Given the description of an element on the screen output the (x, y) to click on. 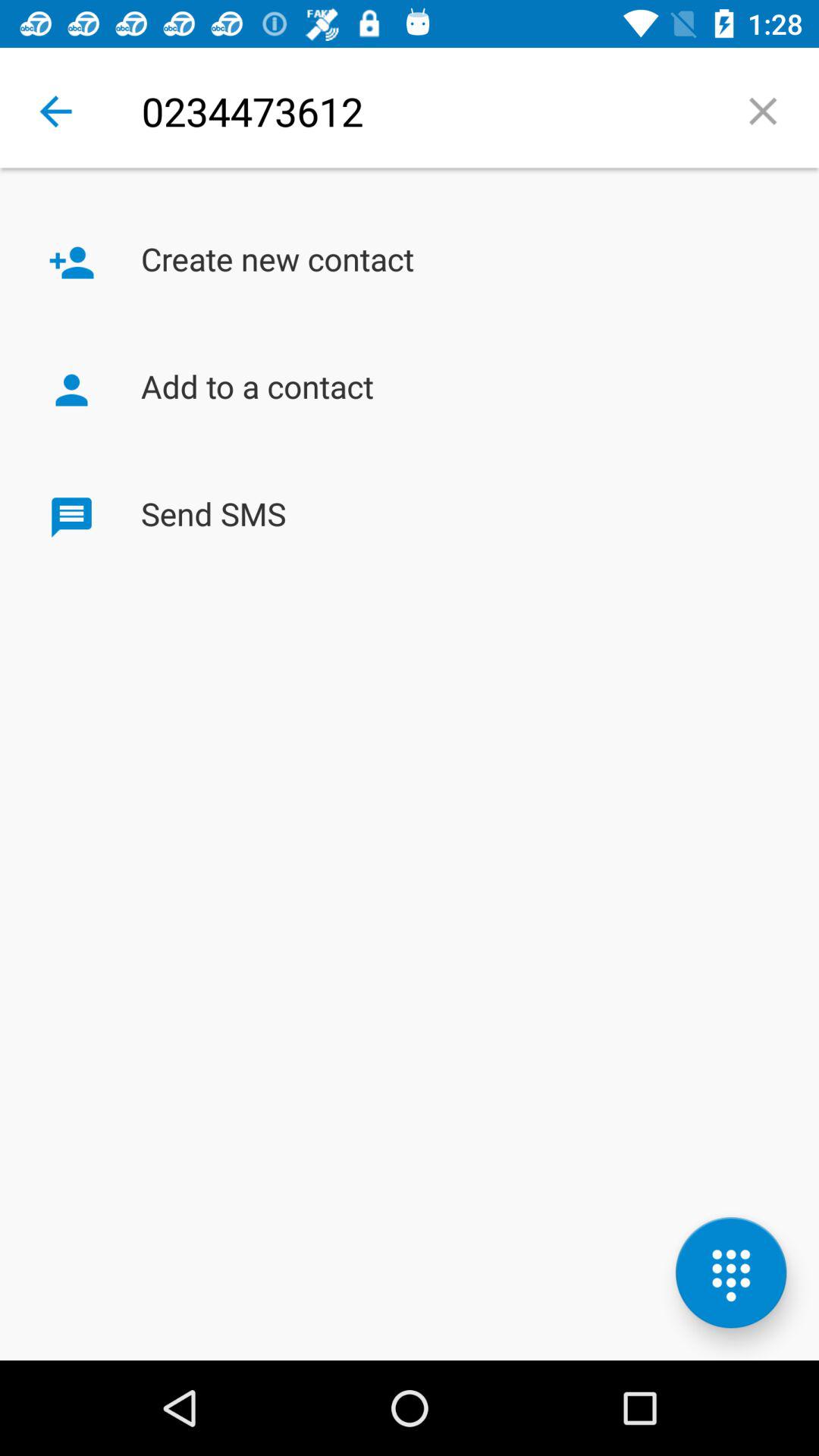
click on icon at the top right corner (763, 111)
click on icon beside create new contact (71, 262)
select the icon in front of text add to a contact (71, 389)
select message icon which is before send sms on page (71, 517)
select the dialpad icon which is at the bottom right of the page (731, 1273)
